Given the description of an element on the screen output the (x, y) to click on. 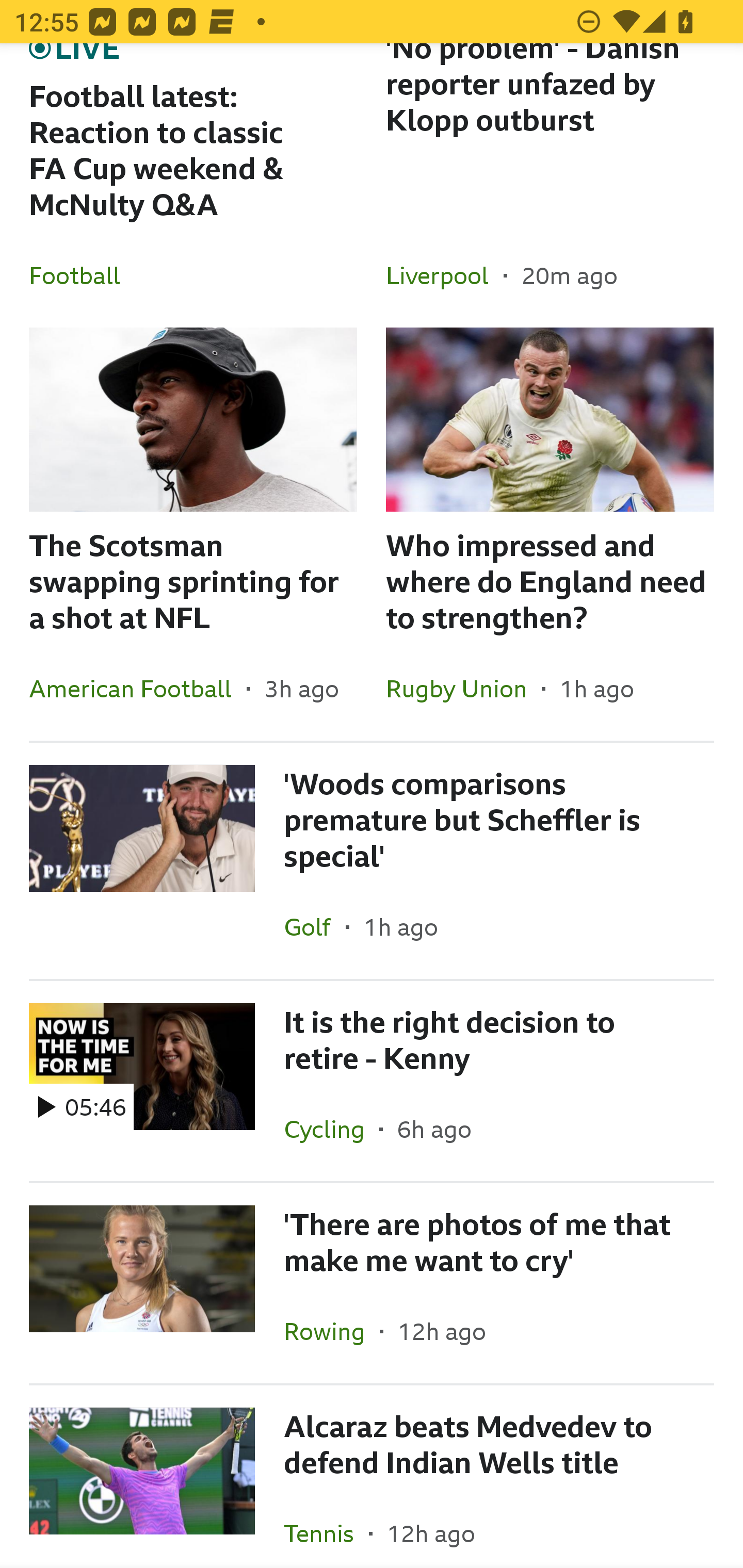
Football In the section Football (81, 274)
Liverpool In the section Liverpool (444, 274)
American Football In the section American Football (137, 688)
Rugby Union In the section Rugby Union (463, 688)
Golf In the section Golf (314, 926)
Cycling In the section Cycling (330, 1128)
Rowing In the section Rowing (331, 1330)
Tennis In the section Tennis (326, 1524)
